Given the description of an element on the screen output the (x, y) to click on. 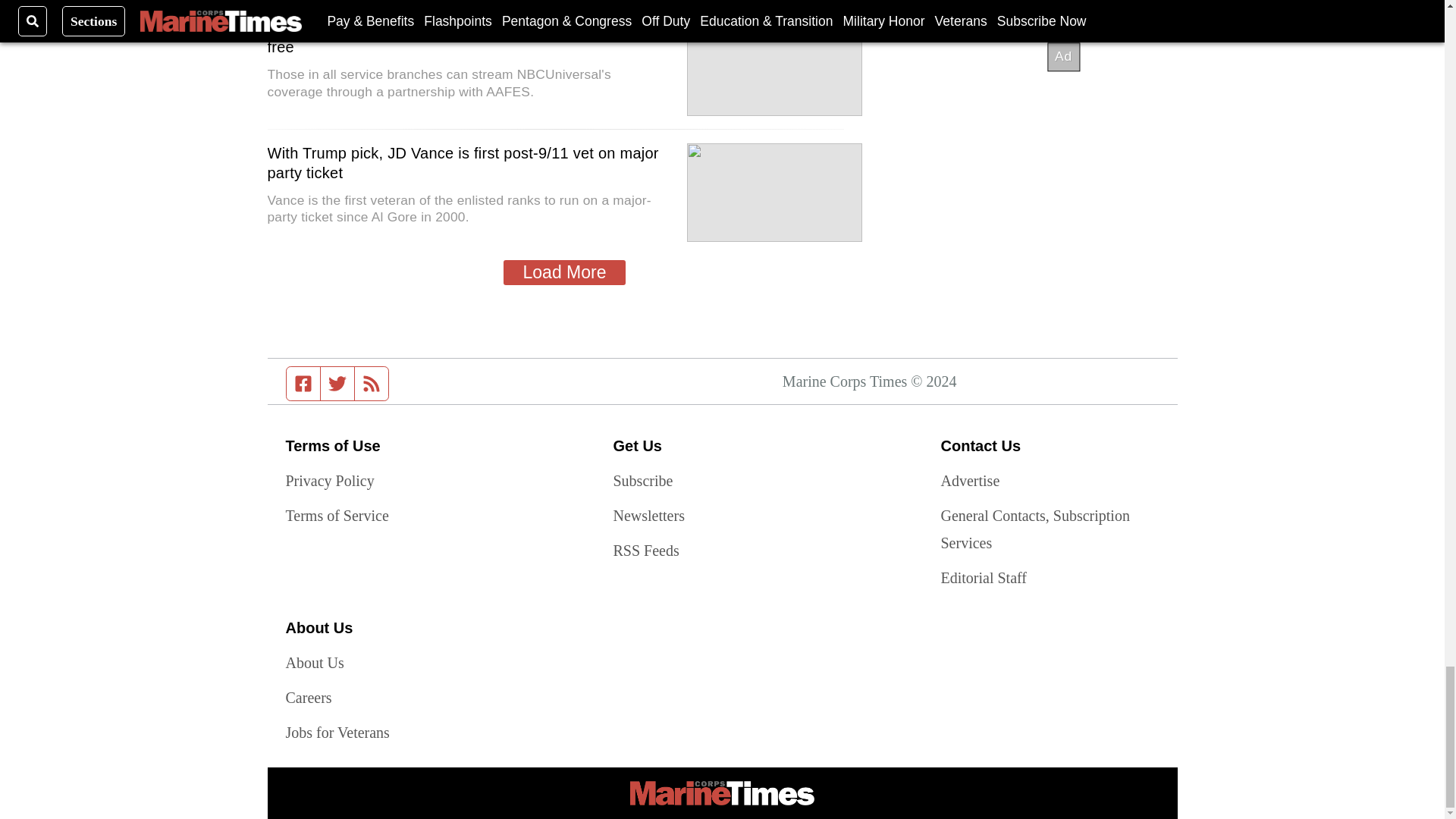
Twitter feed (336, 383)
RSS feed (371, 383)
Facebook page (303, 383)
